Given the description of an element on the screen output the (x, y) to click on. 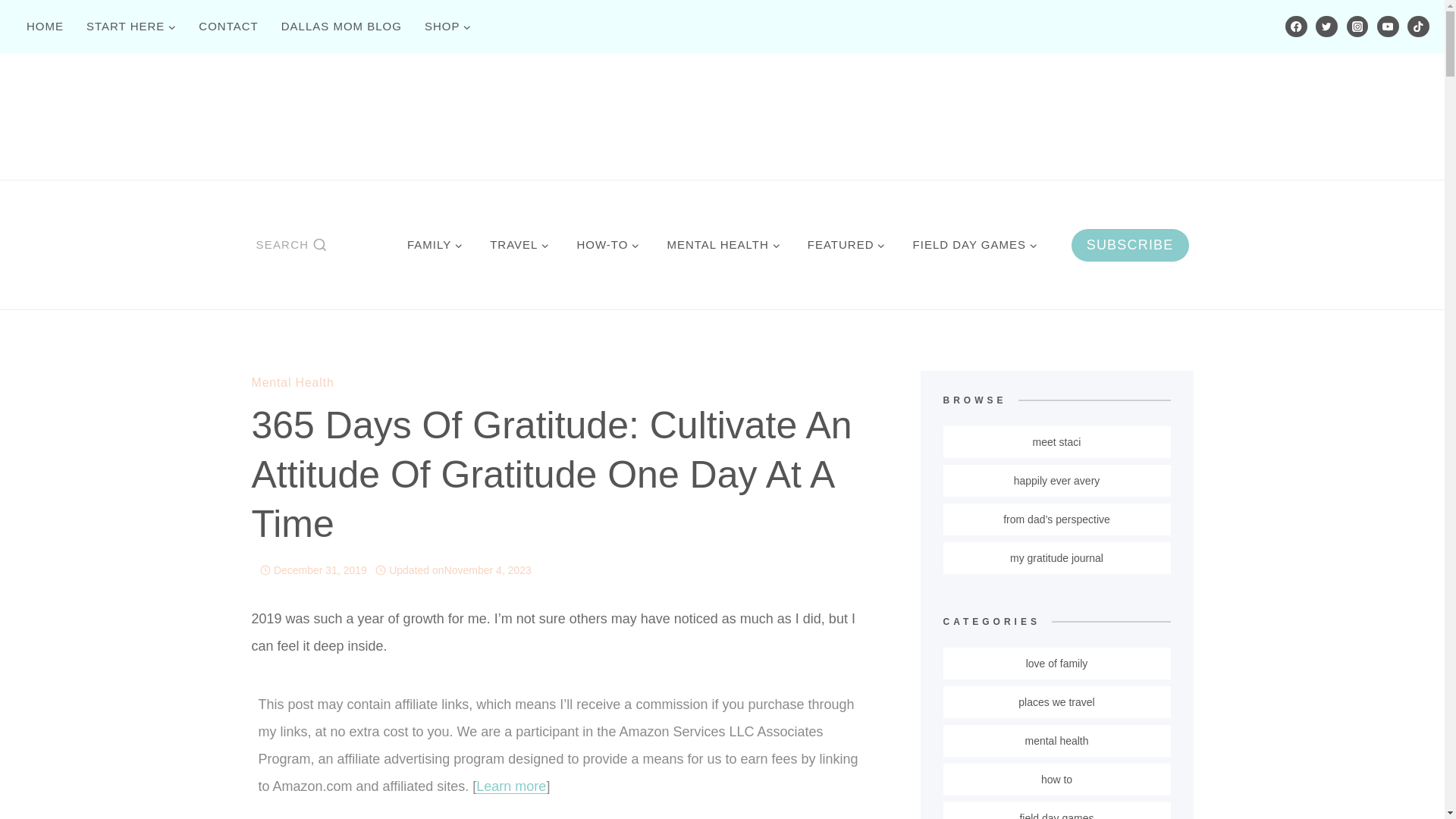
HOME (44, 26)
START HERE (131, 26)
SEARCH (291, 244)
TRAVEL (519, 244)
DALLAS MOM BLOG (341, 26)
HOW-TO (607, 244)
CONTACT (228, 26)
FAMILY (434, 244)
SHOP (448, 26)
